Given the description of an element on the screen output the (x, y) to click on. 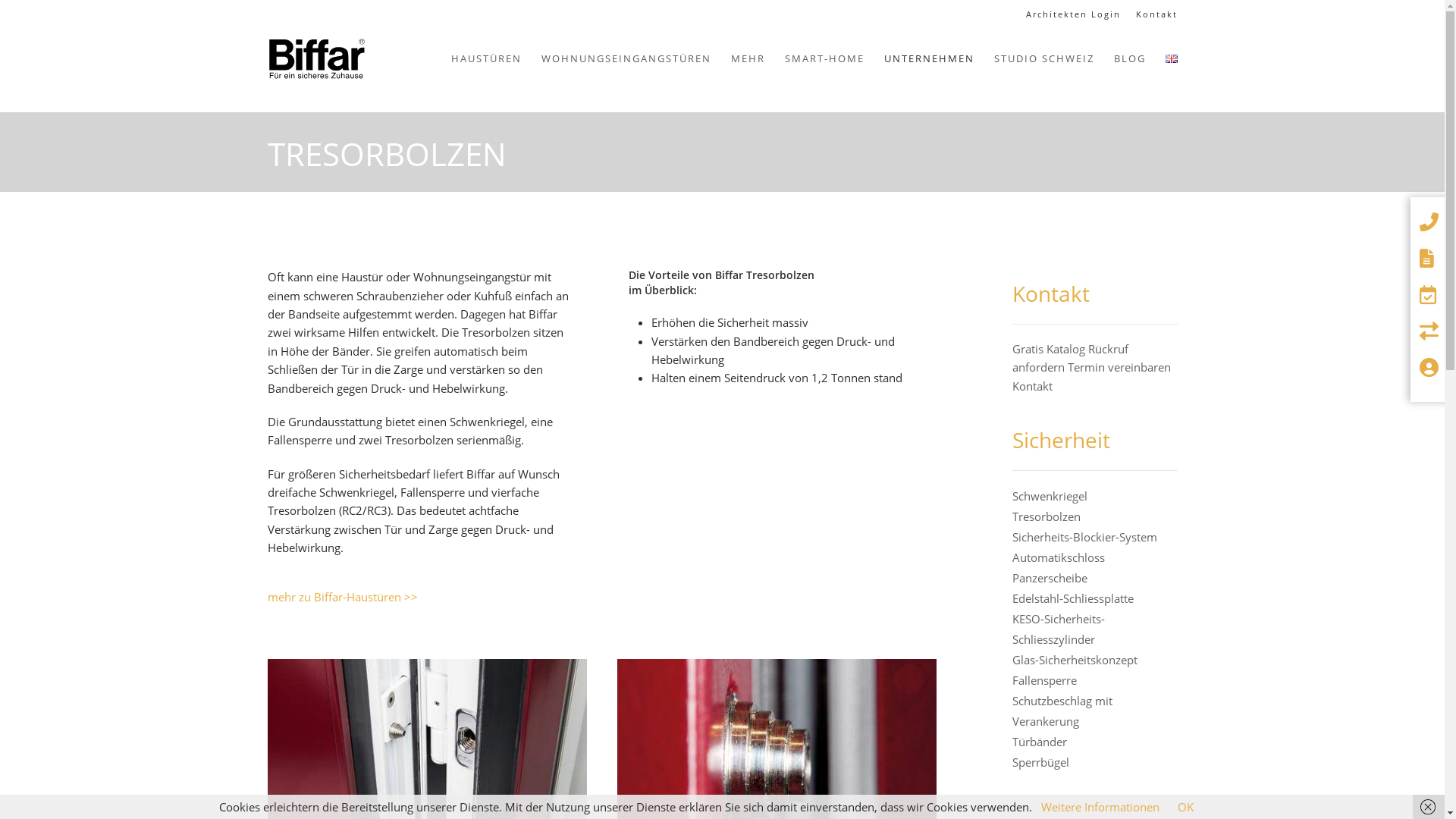
Automatikschloss Element type: text (1058, 556)
Schwenkriegel Element type: text (1049, 495)
Kontakt Element type: text (1156, 14)
Tresorbolzen Element type: text (1046, 516)
Glas-Sicherheitskonzept Element type: text (1074, 659)
BLOG Element type: text (1129, 58)
Gratis Katalog Element type: text (1048, 348)
SMART-HOME Element type: text (824, 58)
Weitere Informationen Element type: text (1100, 806)
KESO-Sicherheits-Schliesszylinder Element type: text (1058, 628)
MEHR Element type: text (747, 58)
Fallensperre Element type: text (1044, 679)
Kontakt Element type: text (1032, 385)
Sicherheits-Blockier-System Element type: text (1084, 536)
Architekten Login Element type: text (1072, 14)
Termin vereinbaren Element type: text (1118, 366)
Edelstahl-Schliessplatte Element type: text (1072, 597)
OK Element type: text (1185, 806)
Schutzbeschlag mit Verankerung Element type: text (1062, 710)
Panzerscheibe Element type: text (1049, 577)
UNTERNEHMEN Element type: text (928, 58)
STUDIO SCHWEIZ Element type: text (1044, 58)
